Given the description of an element on the screen output the (x, y) to click on. 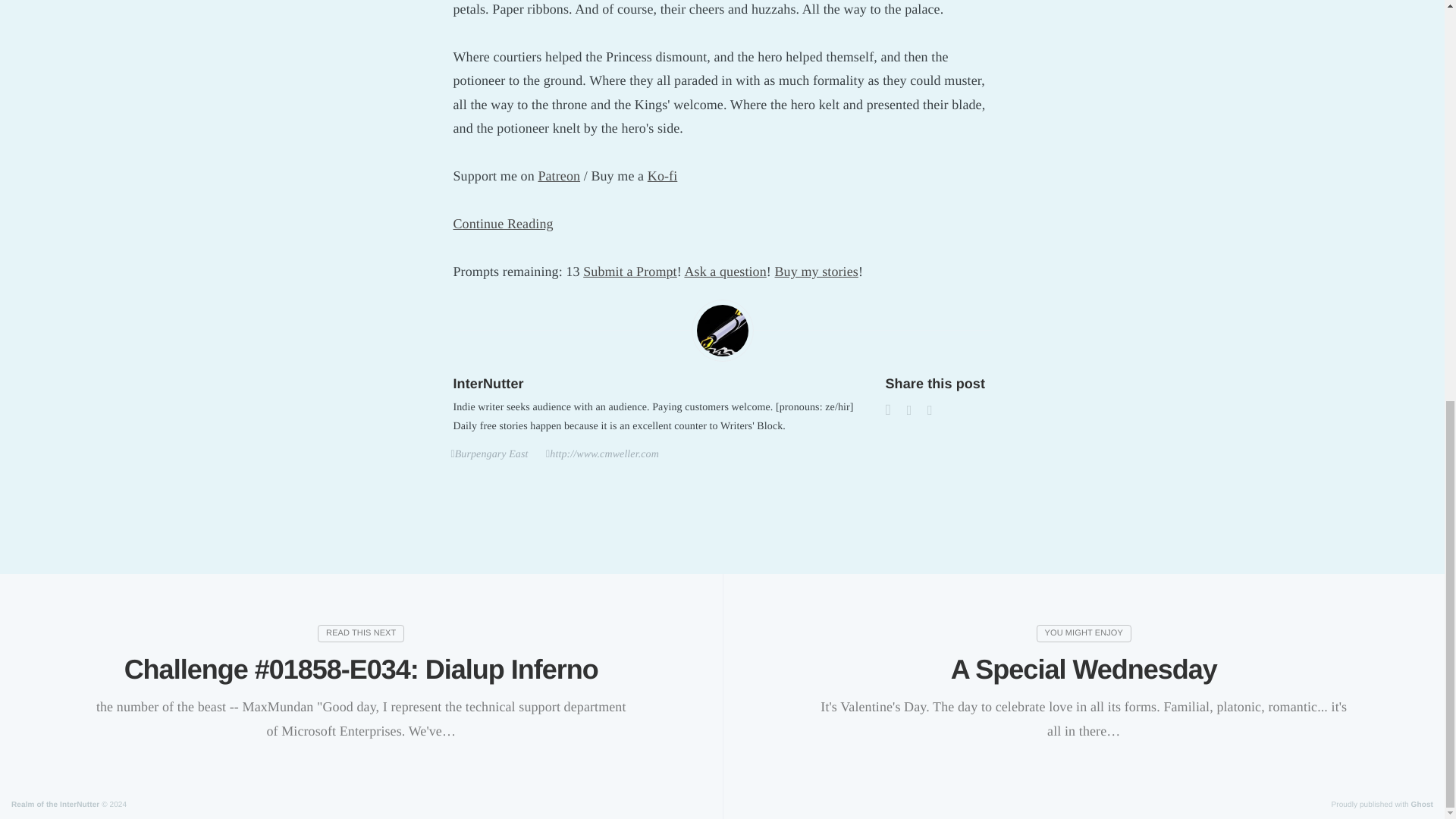
Continue Reading (502, 223)
Submit a Prompt (630, 271)
Ko-fi (662, 175)
Patreon (558, 175)
